Given the description of an element on the screen output the (x, y) to click on. 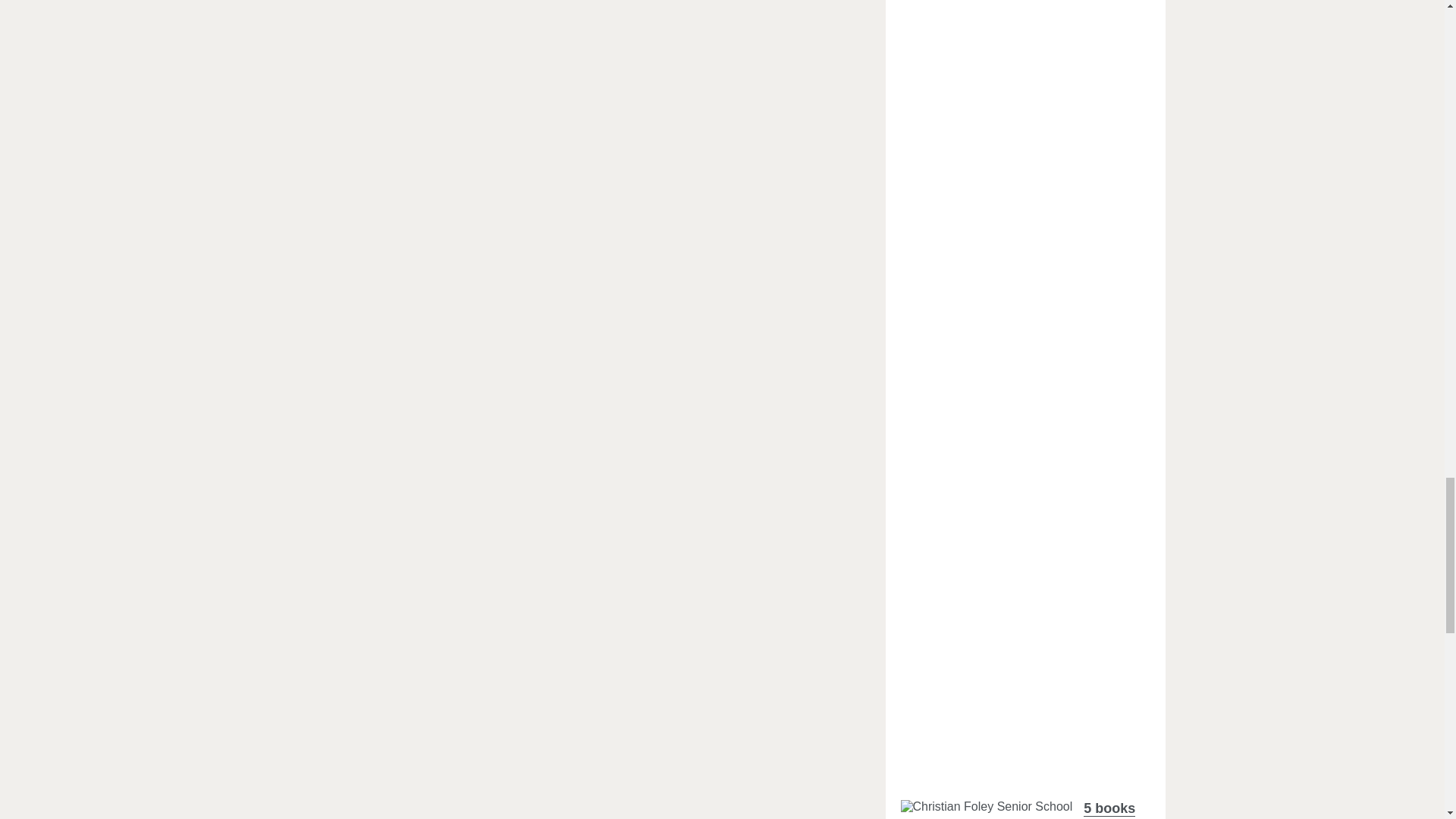
Christian Foley Senior School (987, 807)
5 books that will help the transition to secondary school (987, 806)
